Given the description of an element on the screen output the (x, y) to click on. 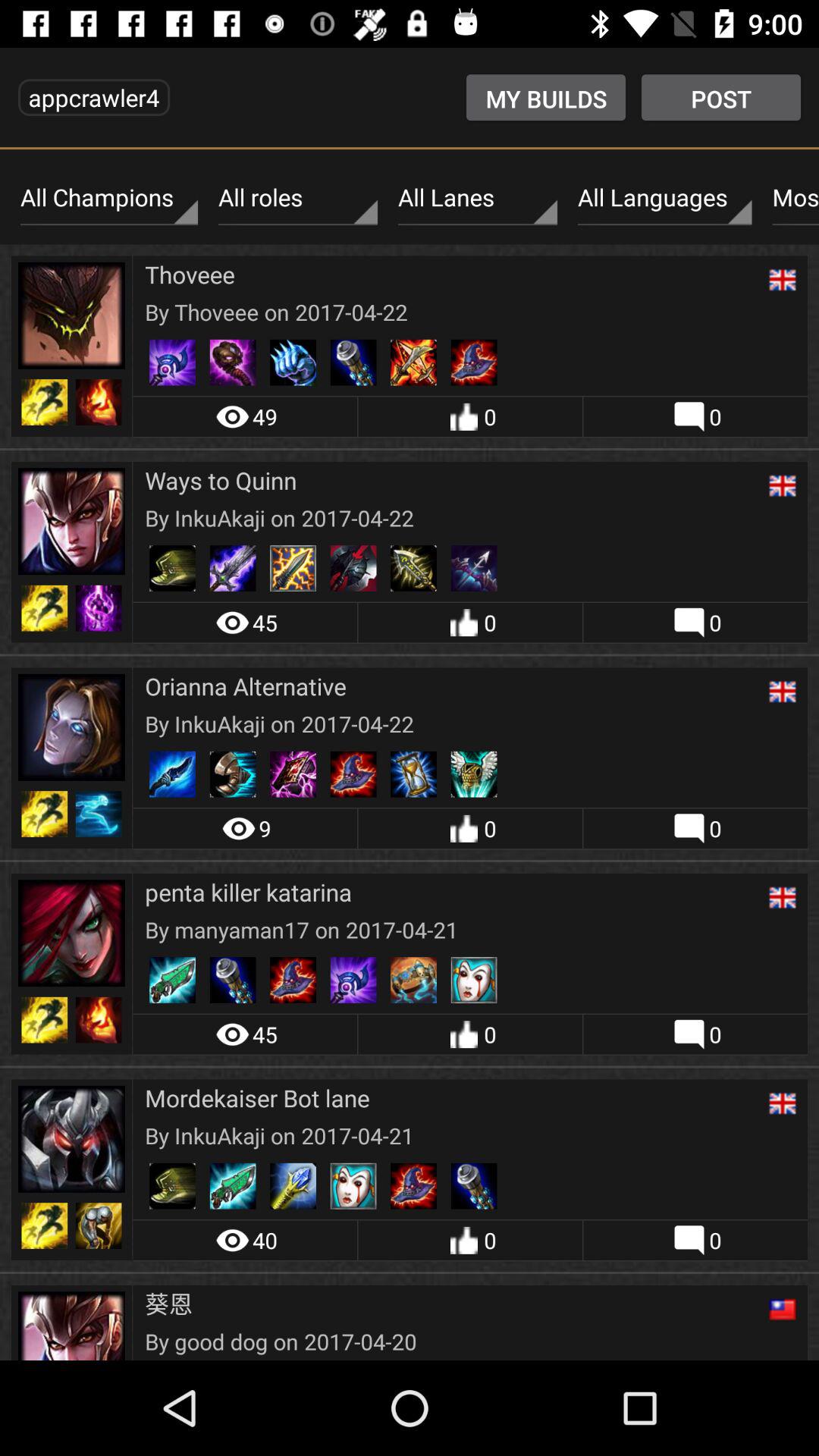
select the icon next to the all champions icon (297, 198)
